Given the description of an element on the screen output the (x, y) to click on. 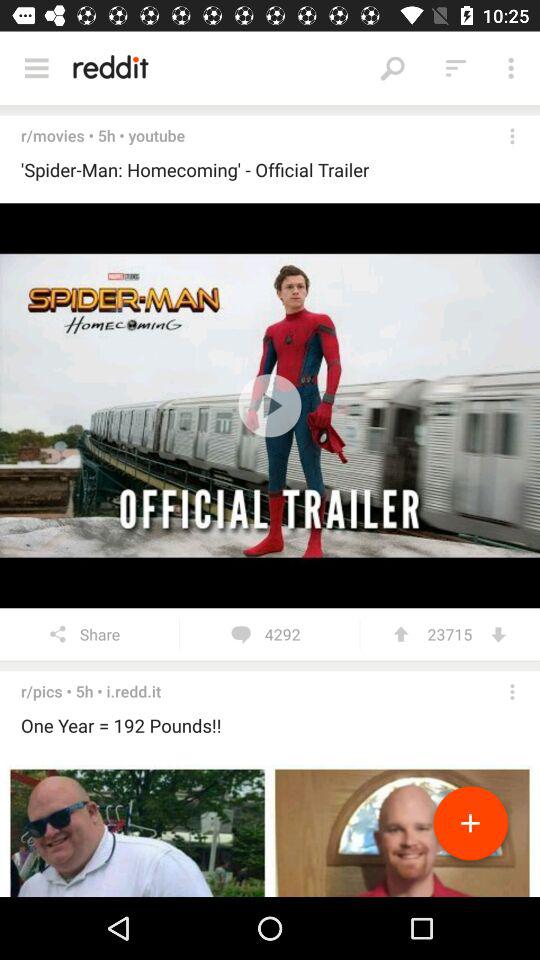
see advertisement about losing weight (270, 828)
